Given the description of an element on the screen output the (x, y) to click on. 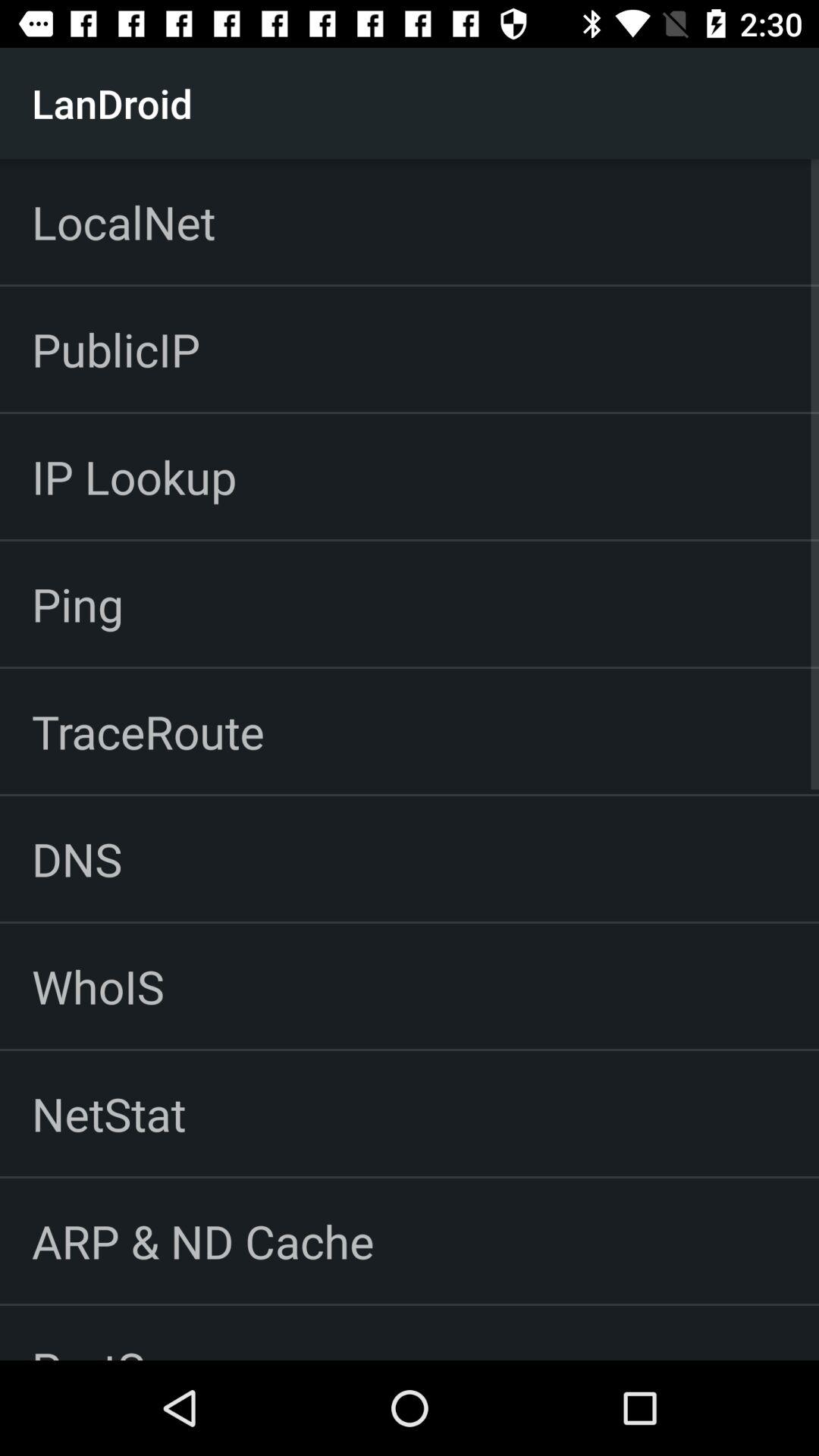
turn off icon above the publicip (123, 221)
